Given the description of an element on the screen output the (x, y) to click on. 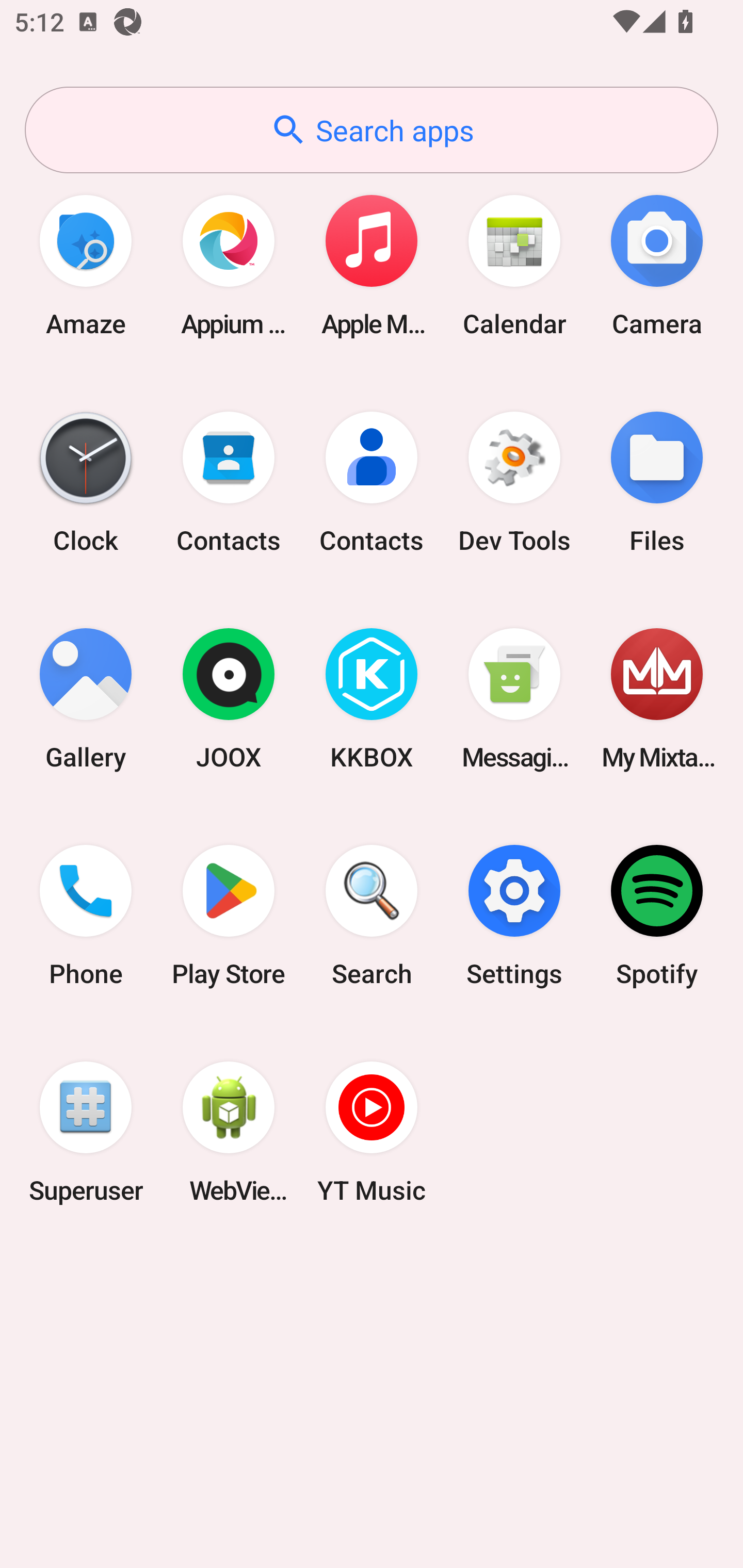
  Search apps (371, 130)
Amaze (85, 264)
Appium Settings (228, 264)
Apple Music (371, 264)
Calendar (514, 264)
Camera (656, 264)
Clock (85, 482)
Contacts (228, 482)
Contacts (371, 482)
Dev Tools (514, 482)
Files (656, 482)
Gallery (85, 699)
JOOX (228, 699)
KKBOX (371, 699)
Messaging (514, 699)
My Mixtapez (656, 699)
Phone (85, 915)
Play Store (228, 915)
Search (371, 915)
Settings (514, 915)
Spotify (656, 915)
Superuser (85, 1131)
WebView Browser Tester (228, 1131)
YT Music (371, 1131)
